Given the description of an element on the screen output the (x, y) to click on. 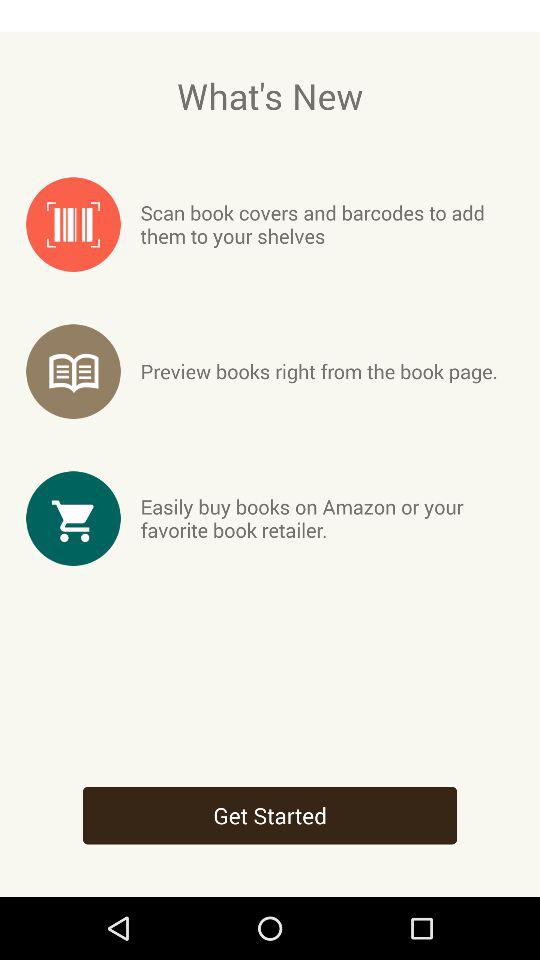
press the get started (269, 815)
